Given the description of an element on the screen output the (x, y) to click on. 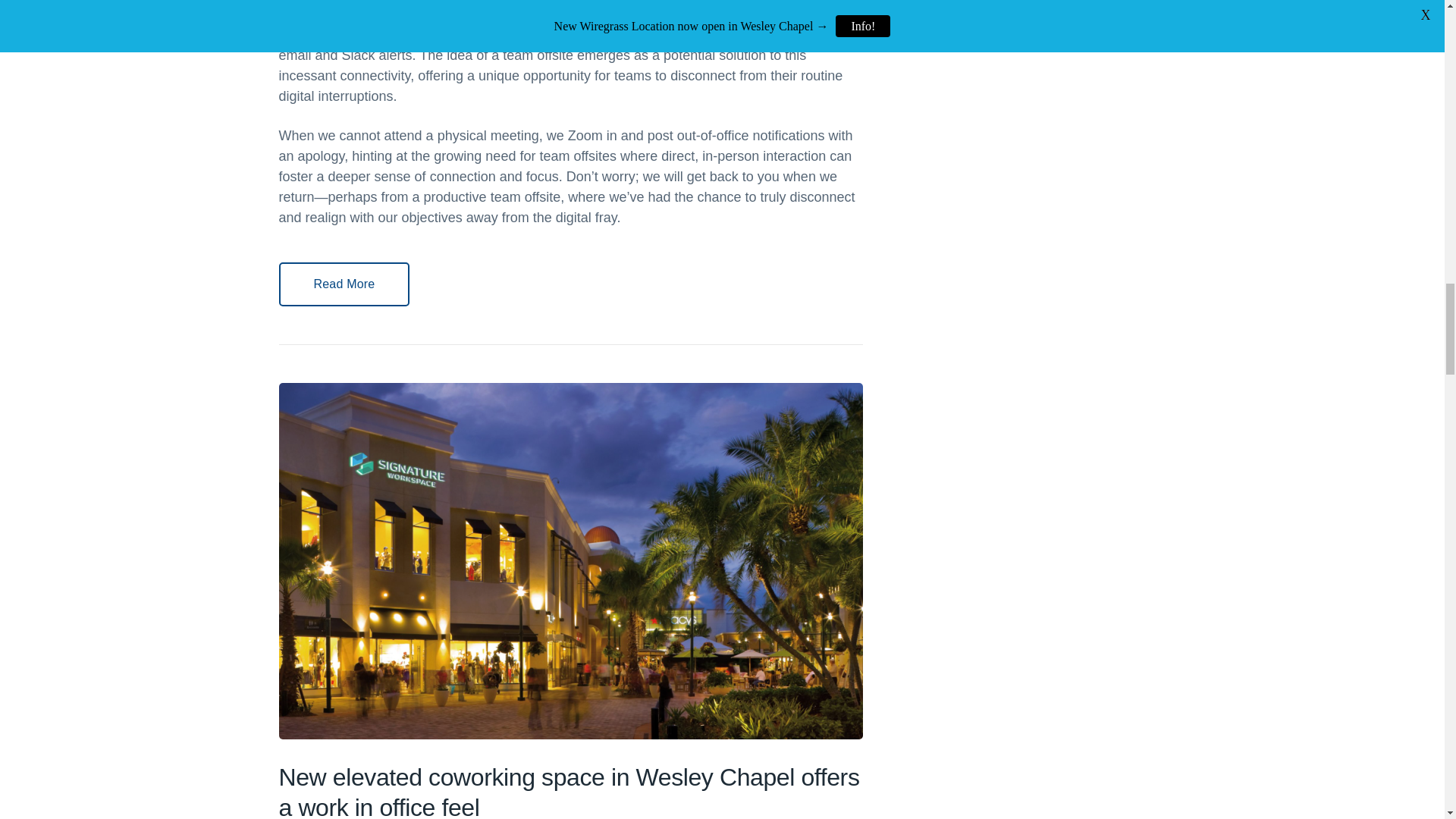
Read More (344, 284)
